Given the description of an element on the screen output the (x, y) to click on. 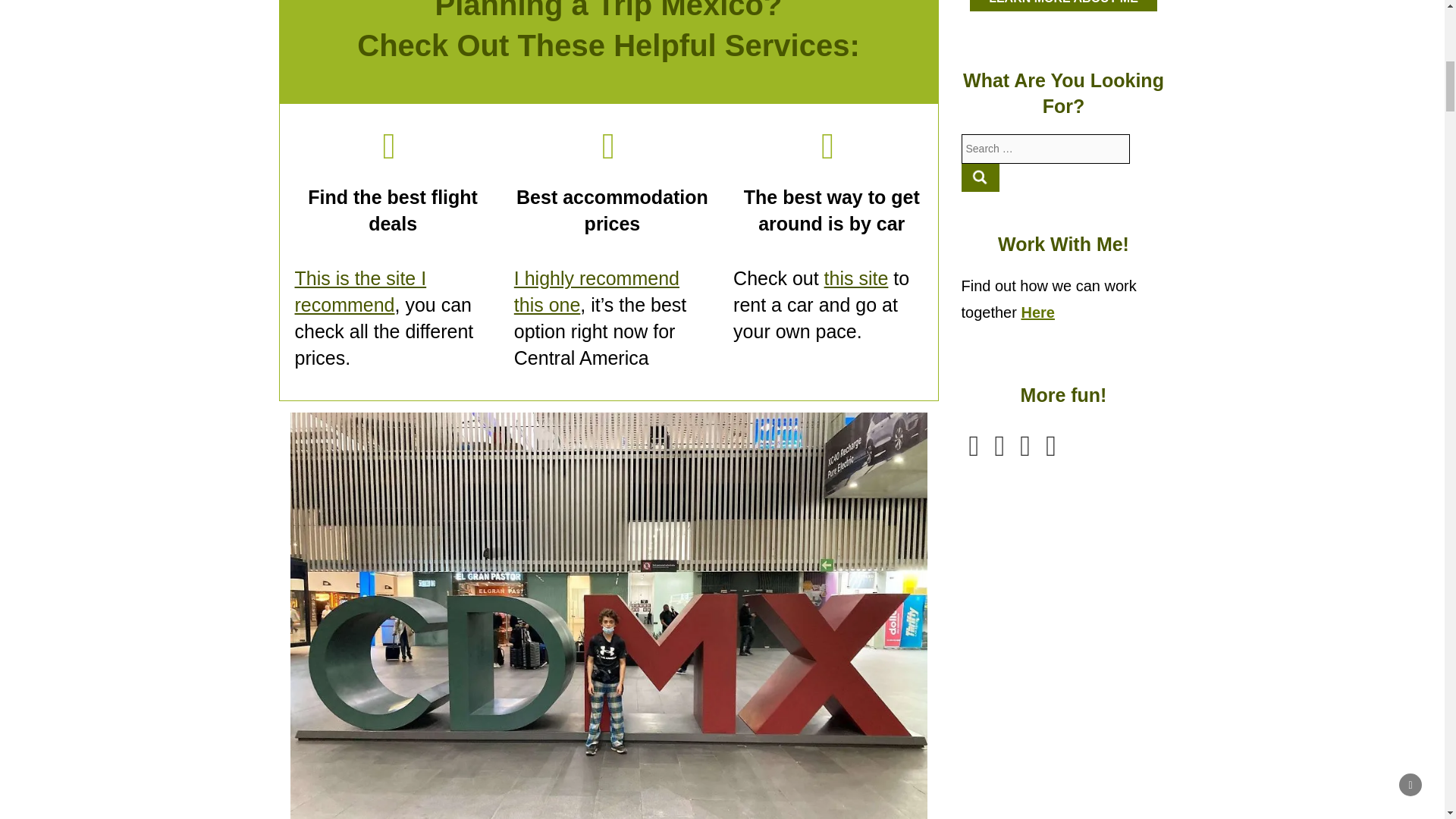
Search (980, 177)
Search (980, 177)
